Given the description of an element on the screen output the (x, y) to click on. 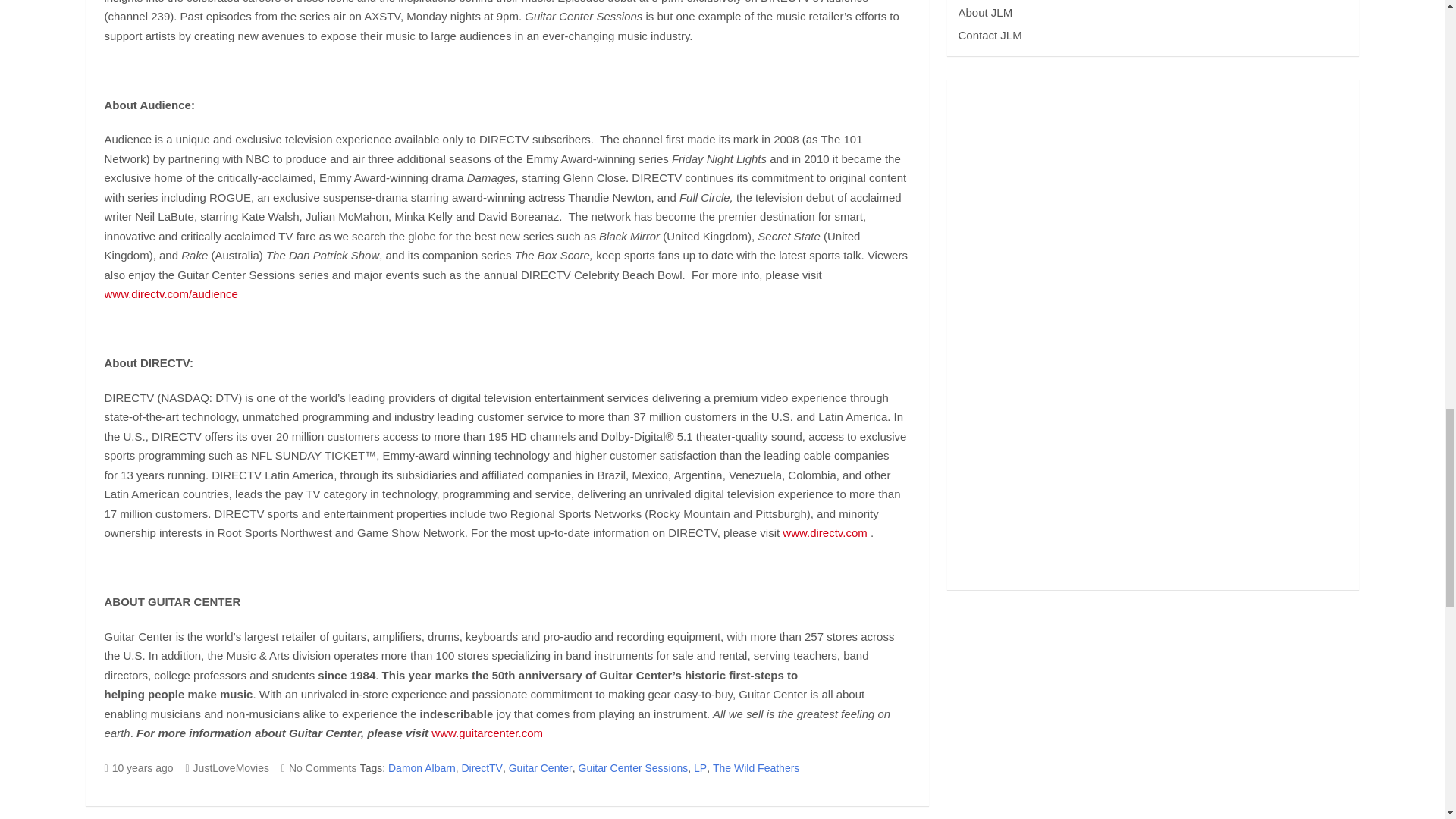
Guitar Center Sessions (633, 769)
10 years ago (138, 767)
DirectTV (481, 769)
JustLoveMovies (226, 767)
The Wild Feathers (756, 769)
Damon Albarn (421, 769)
10 years ago (138, 767)
Guitar Center (540, 769)
www.guitarcenter.com (486, 732)
www.directv.com (824, 532)
No Comments (318, 767)
